Given the description of an element on the screen output the (x, y) to click on. 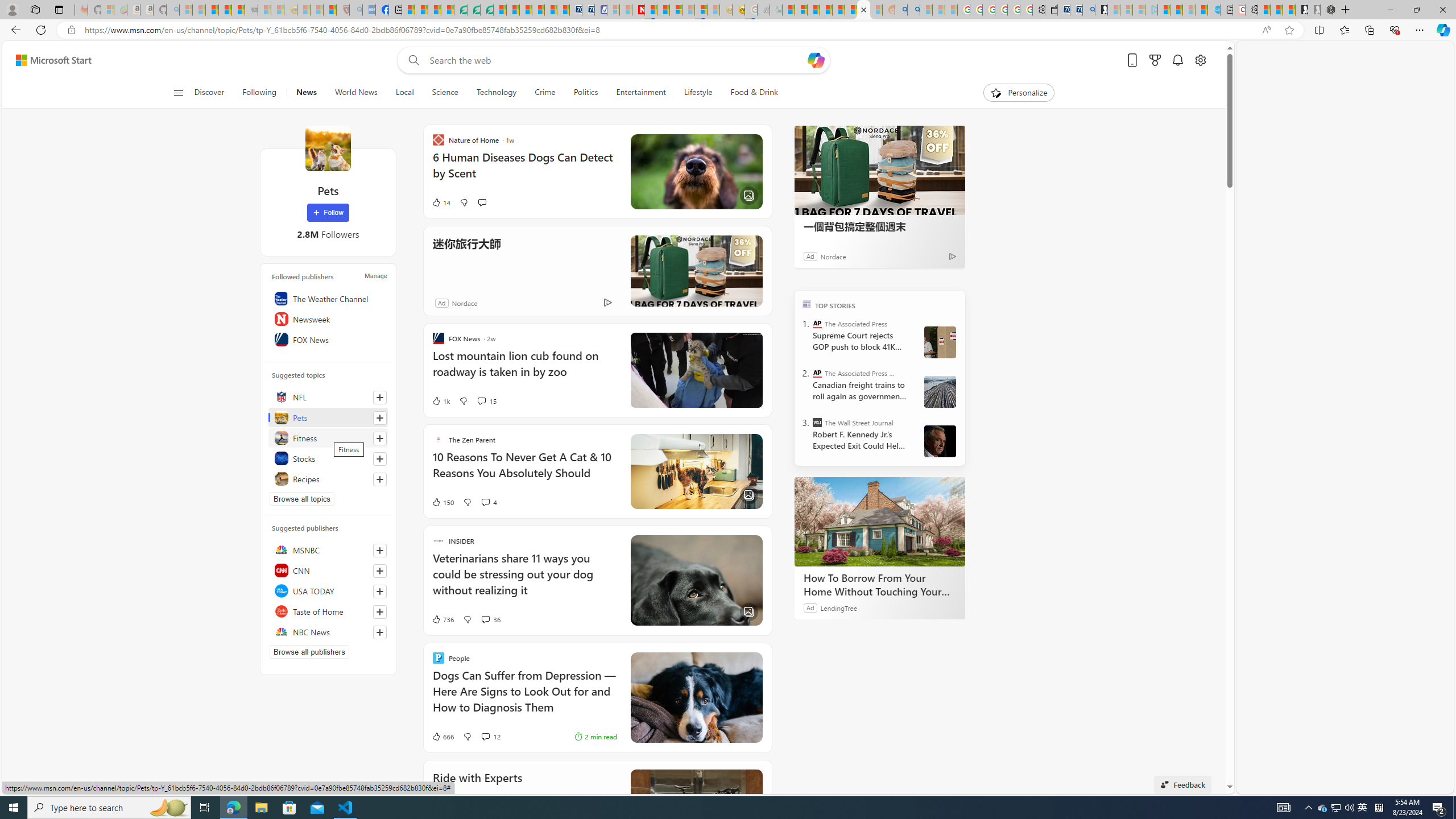
Close (1442, 9)
News (306, 92)
Notifications (1177, 60)
MSNBC - MSN (788, 9)
View comments 12 Comment (490, 736)
See more (754, 776)
Cheap Hotels - Save70.com (587, 9)
Robert H. Shmerling, MD - Harvard Health - Sleeping (342, 9)
How To Borrow From Your Home Without Touching Your Mortgage (879, 521)
Trusted Community Engagement and Contributions | Guidelines (650, 9)
Technology (496, 92)
Taste of Home (327, 610)
How To Borrow From Your Home Without Touching Your Mortgage (879, 584)
